Given the description of an element on the screen output the (x, y) to click on. 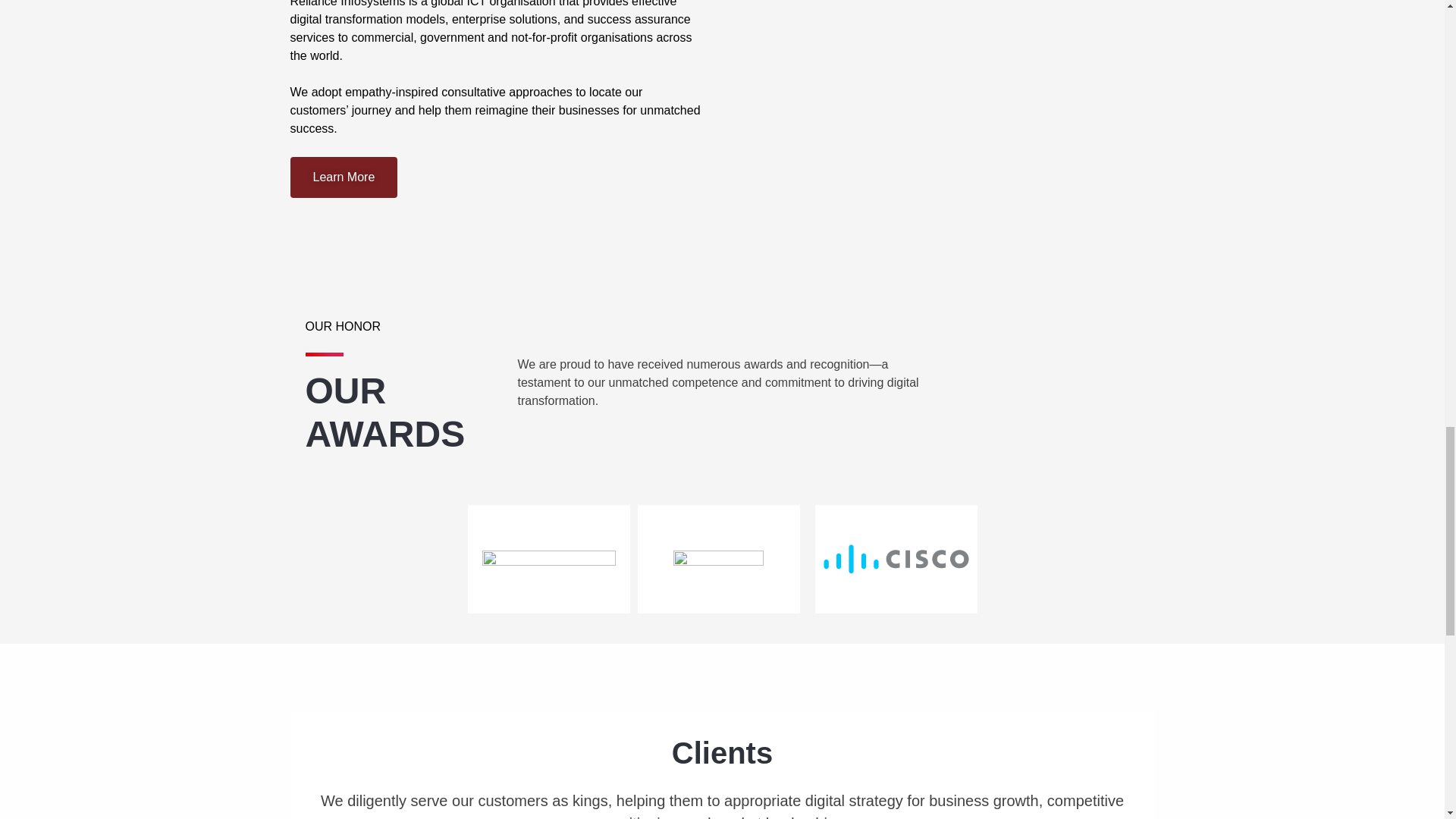
Learn More (343, 177)
